Given the description of an element on the screen output the (x, y) to click on. 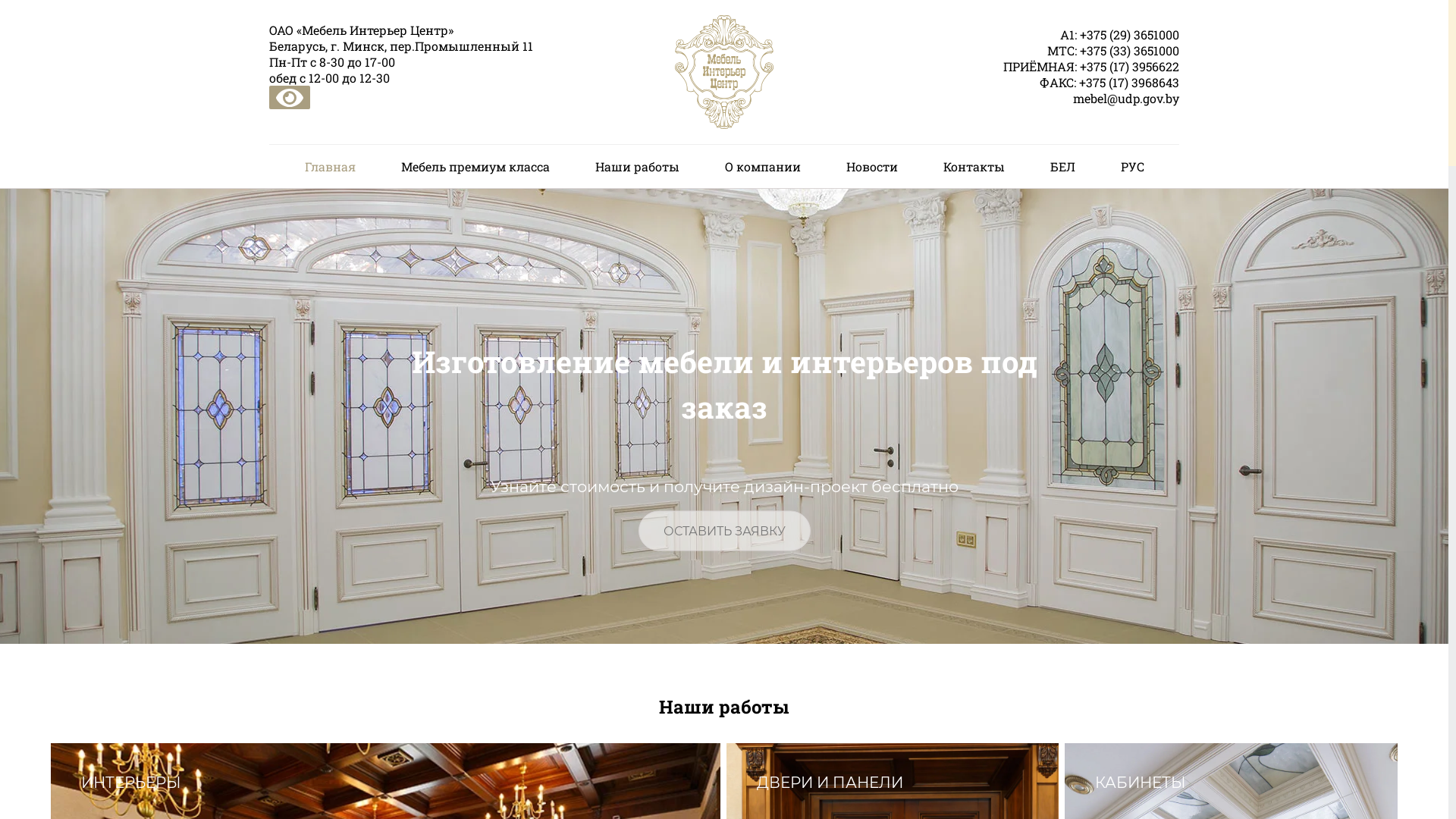
A1: +375 (29) 3651000 Element type: text (1028, 33)
mebel@udp.gov.by Element type: text (1028, 97)
